Given the description of an element on the screen output the (x, y) to click on. 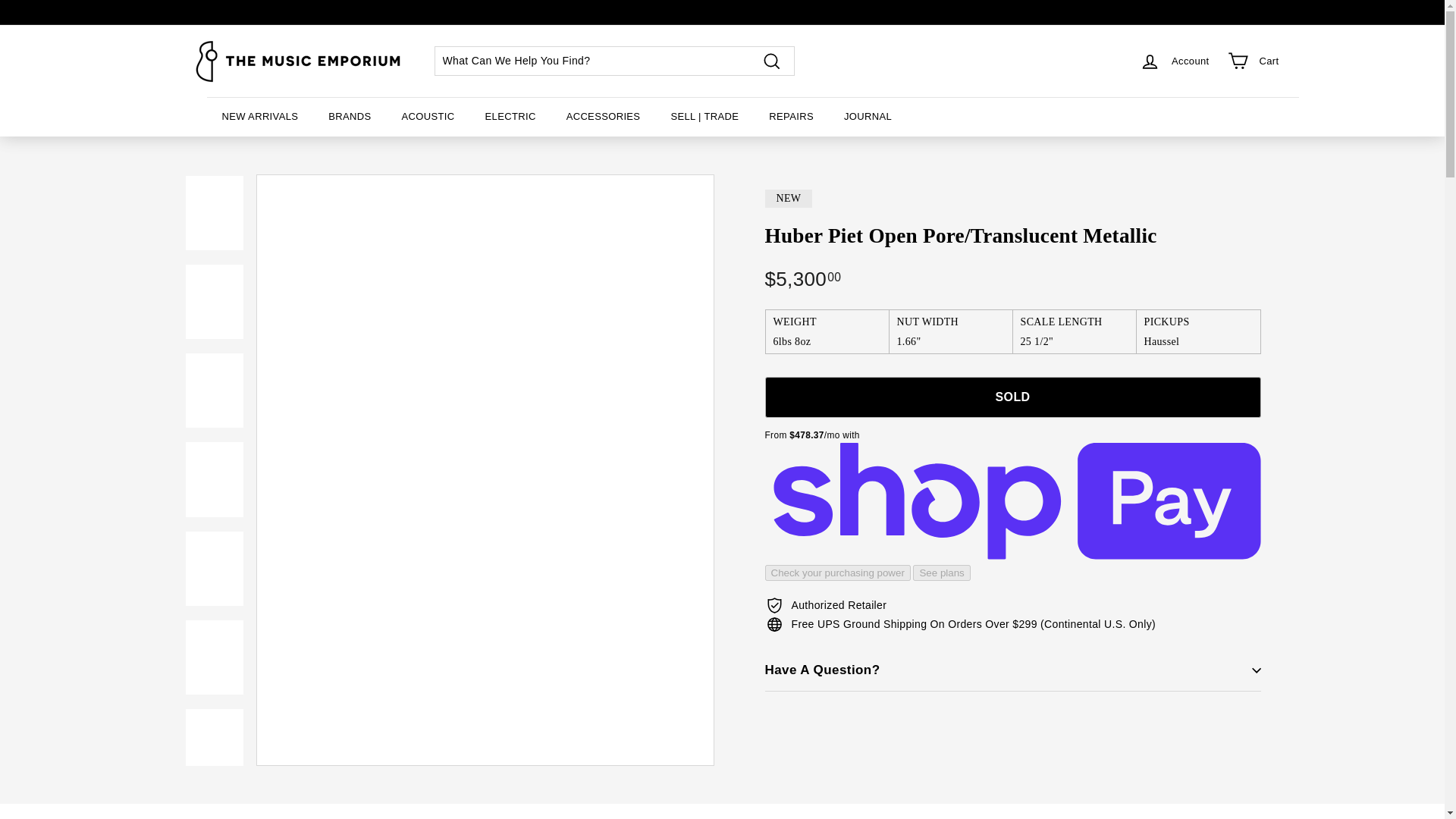
Account (1174, 60)
BRANDS (349, 116)
NEW ARRIVALS (259, 116)
